Given the description of an element on the screen output the (x, y) to click on. 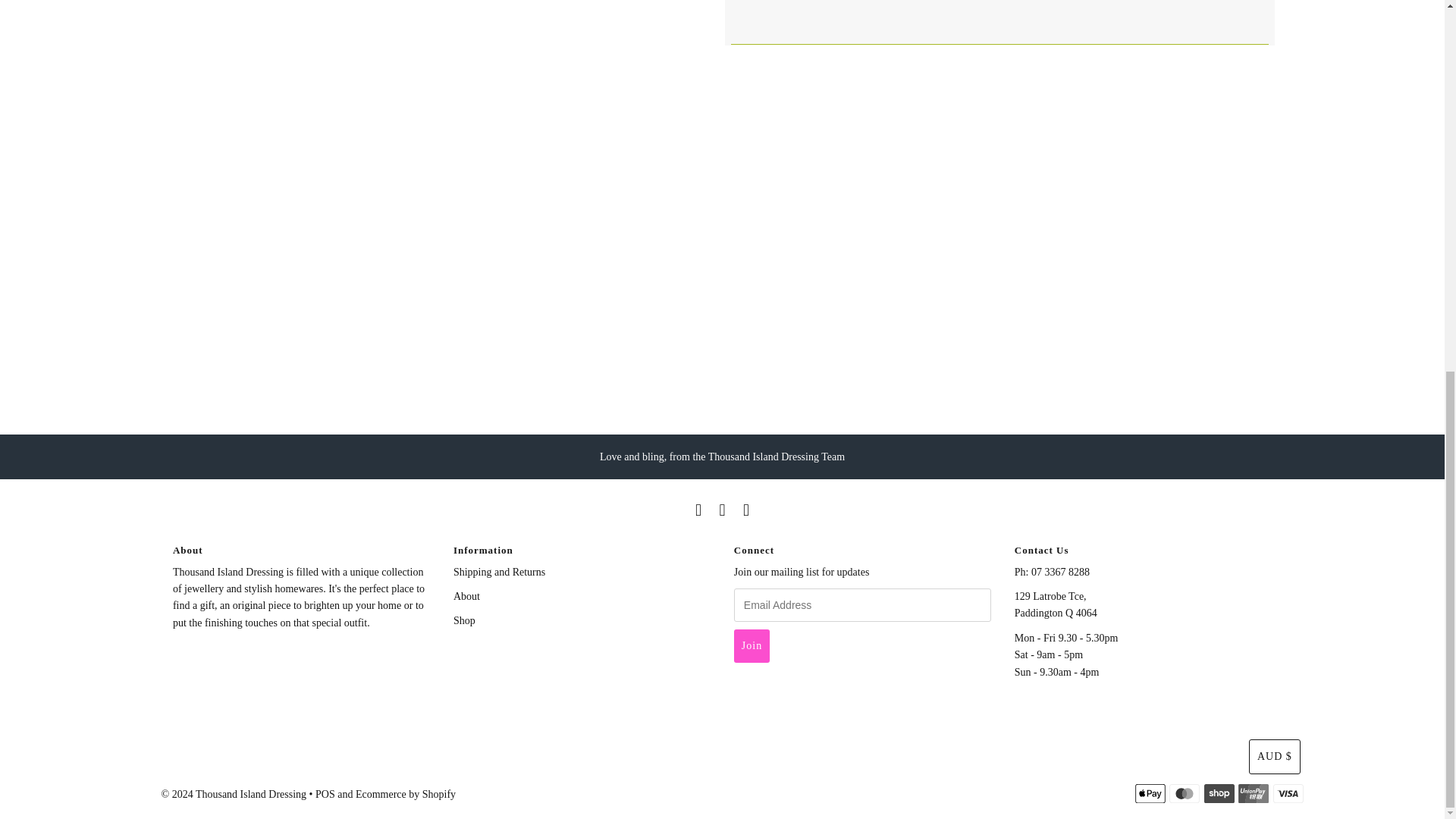
Visa (1287, 793)
About Us (466, 595)
Join (751, 645)
All collections (464, 620)
Shipping (498, 572)
Mastercard (1184, 793)
Apple Pay (1150, 793)
Union Pay (1253, 793)
Shop Pay (1219, 793)
